Given the description of an element on the screen output the (x, y) to click on. 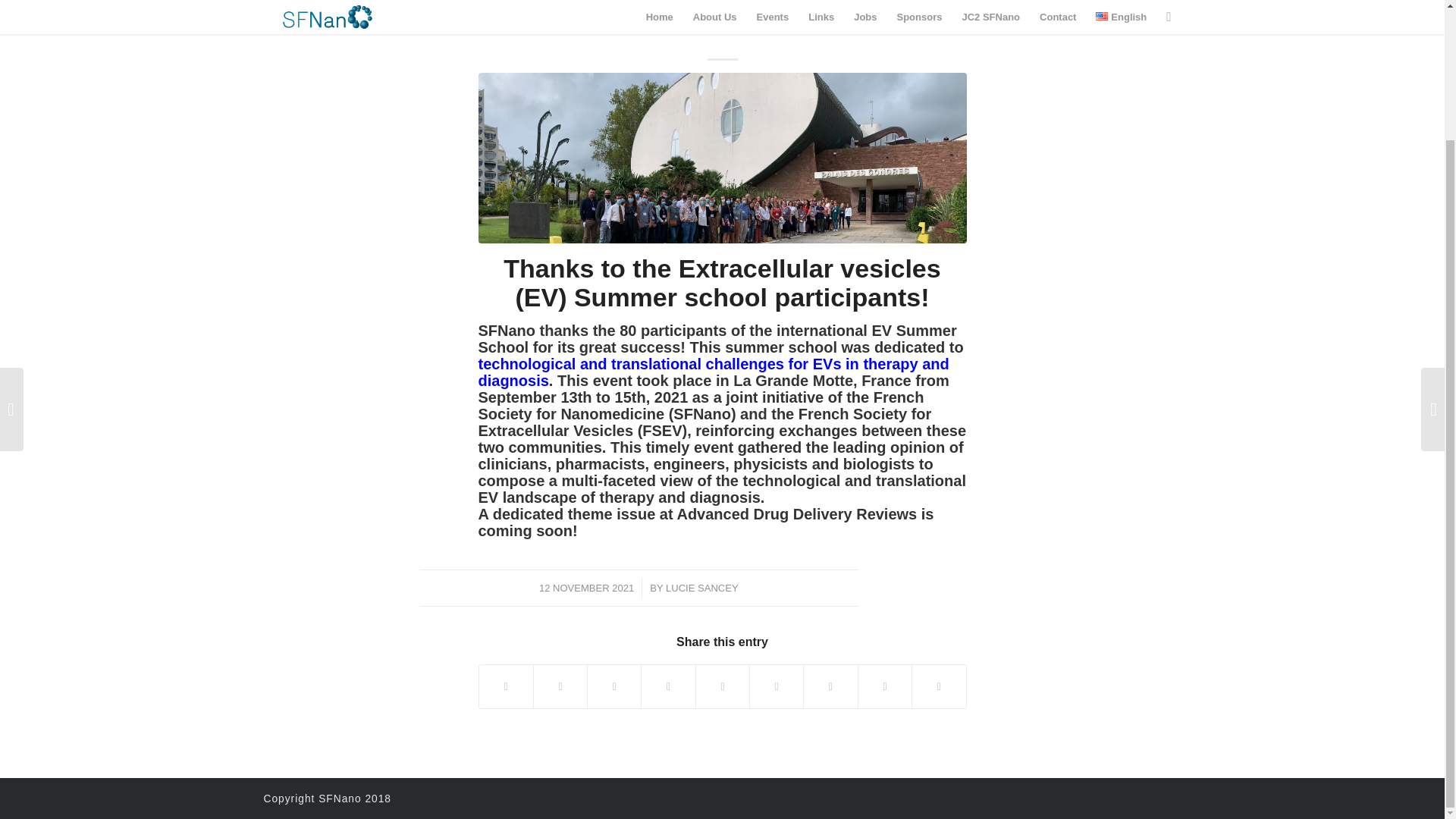
summer-school2021 (721, 157)
Permanent Link: summer-school2021 (721, 23)
Posts by Lucie Sancey (701, 587)
